Given the description of an element on the screen output the (x, y) to click on. 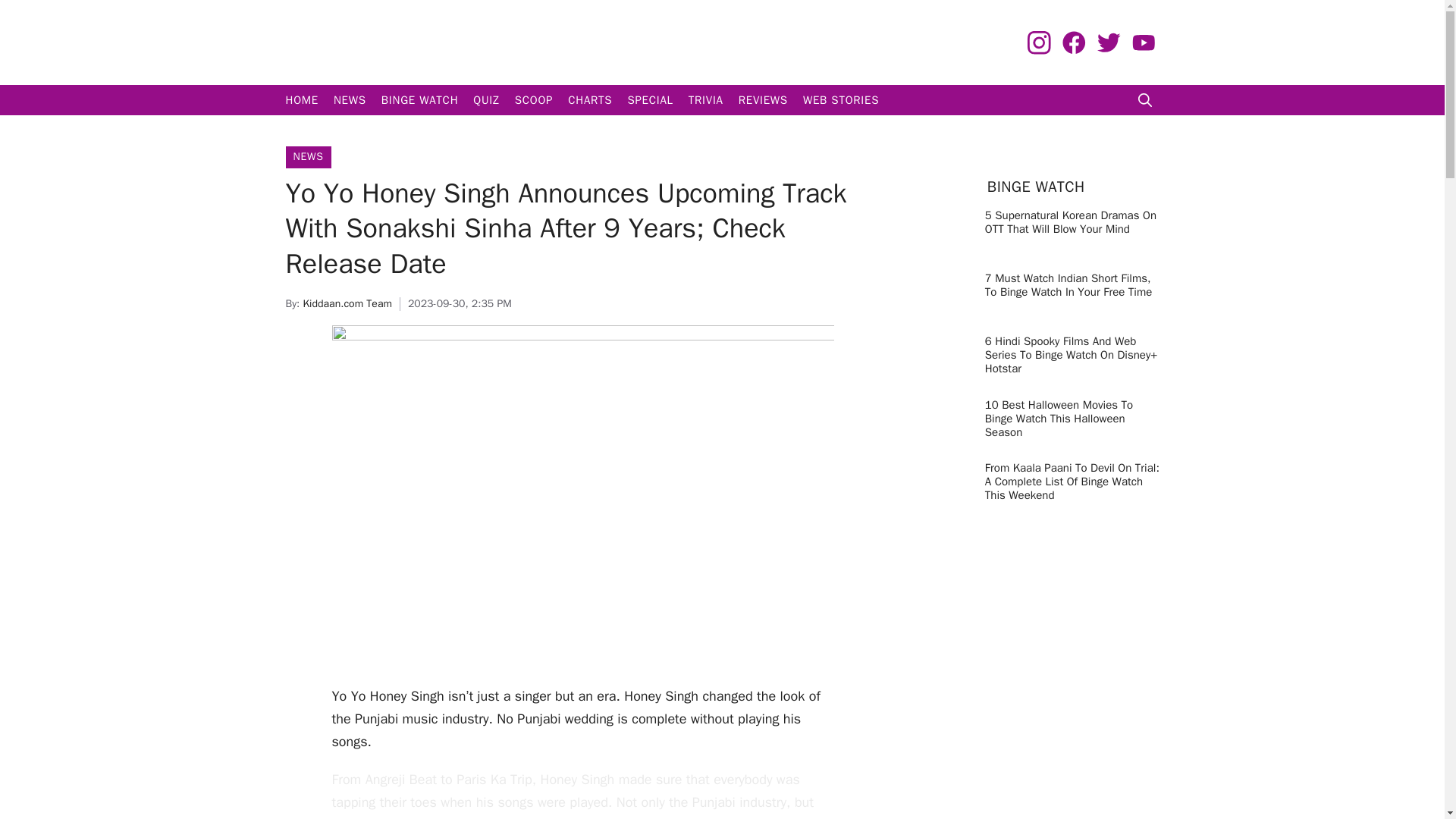
Kiddaan.com Team (346, 303)
SPECIAL (649, 100)
SCOOP (533, 100)
HOME (301, 100)
WEB STORIES (840, 100)
QUIZ (485, 100)
